Given the description of an element on the screen output the (x, y) to click on. 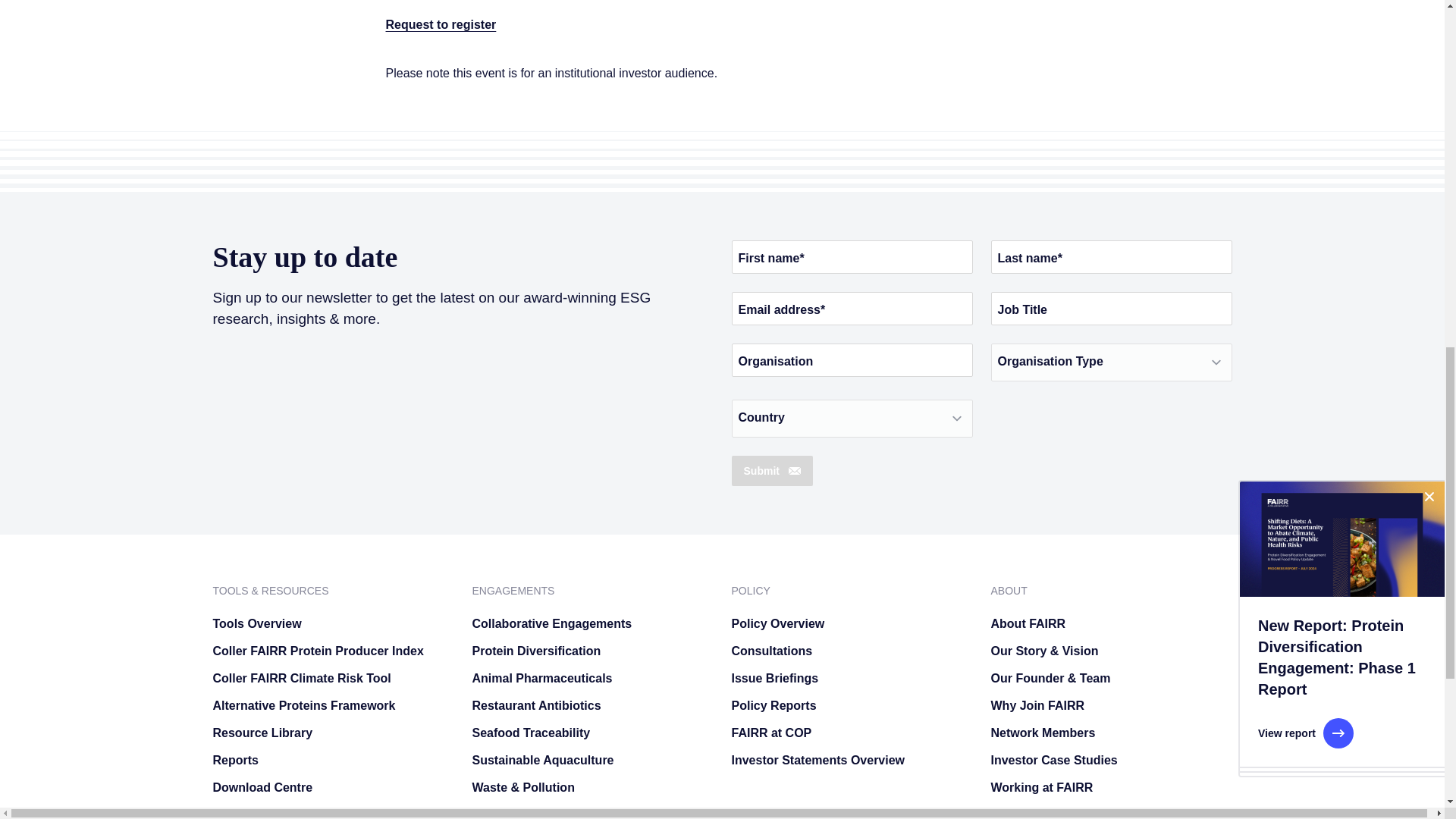
Seafood Traceability (592, 733)
Protein Diversification (592, 651)
Submit (771, 470)
Animal Pharmaceuticals (592, 678)
Collaborative Engagements (592, 623)
Tools Overview (332, 623)
Restaurant Antibiotics (592, 705)
Coller FAIRR Climate Risk Tool (332, 678)
Alternative Proteins Framework (332, 705)
Sustainable Aquaculture (592, 760)
